Given the description of an element on the screen output the (x, y) to click on. 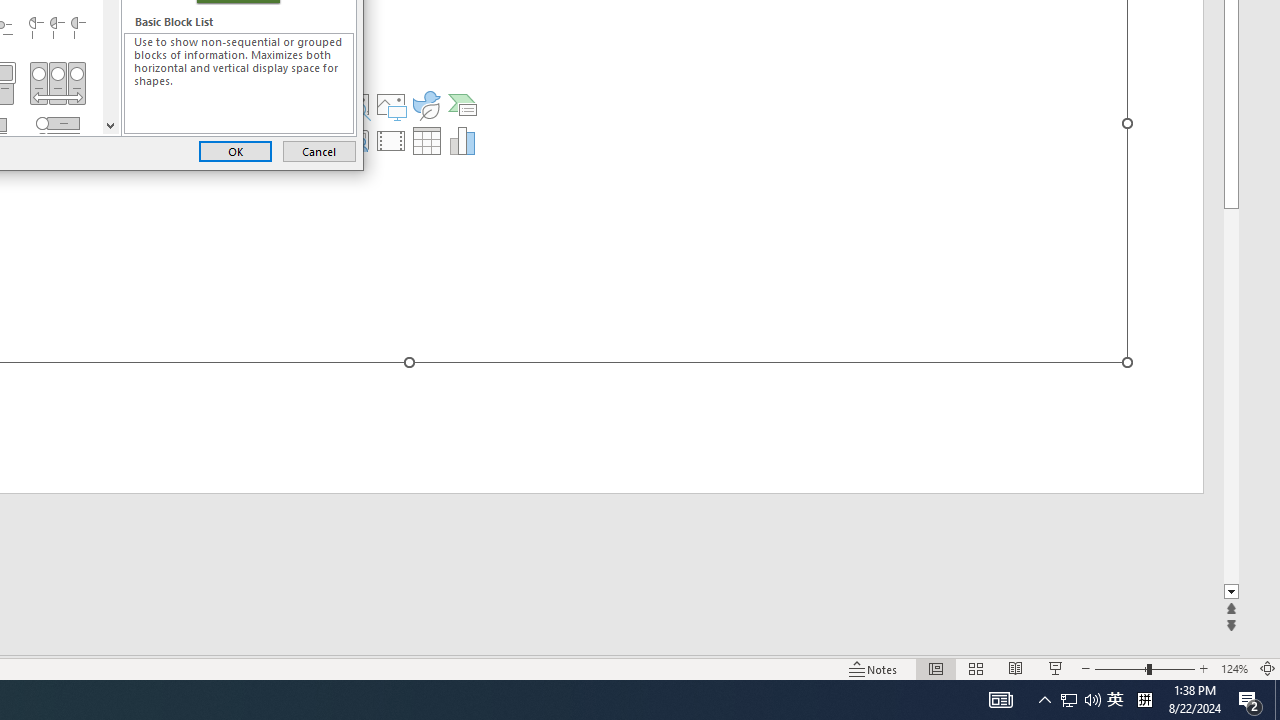
Vertical Picture Accent List (1069, 699)
Pie Process (57, 139)
